Given the description of an element on the screen output the (x, y) to click on. 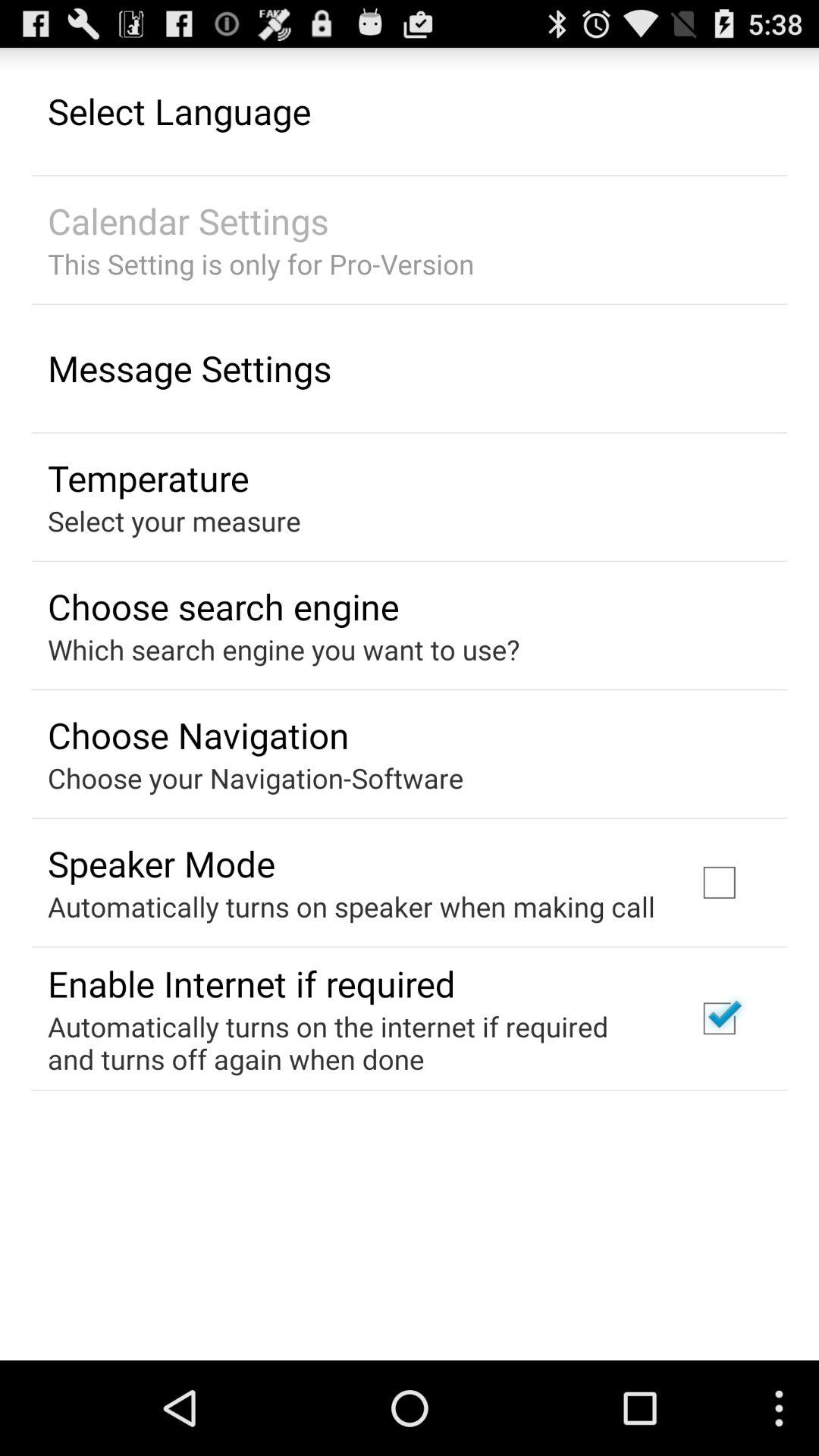
launch item below message settings (148, 477)
